Given the description of an element on the screen output the (x, y) to click on. 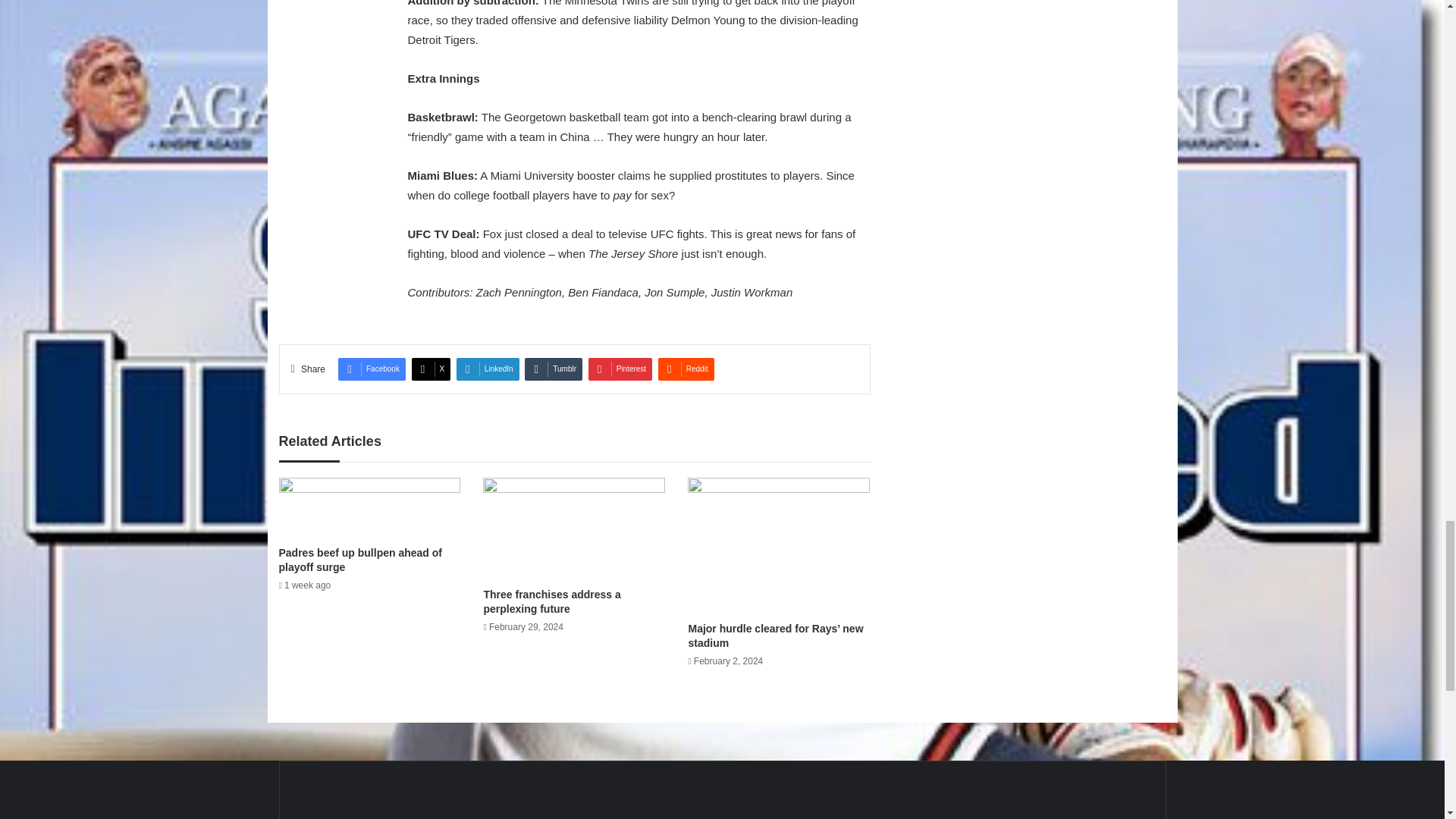
Facebook (371, 368)
Tumblr (553, 368)
X (431, 368)
LinkedIn (488, 368)
